Given the description of an element on the screen output the (x, y) to click on. 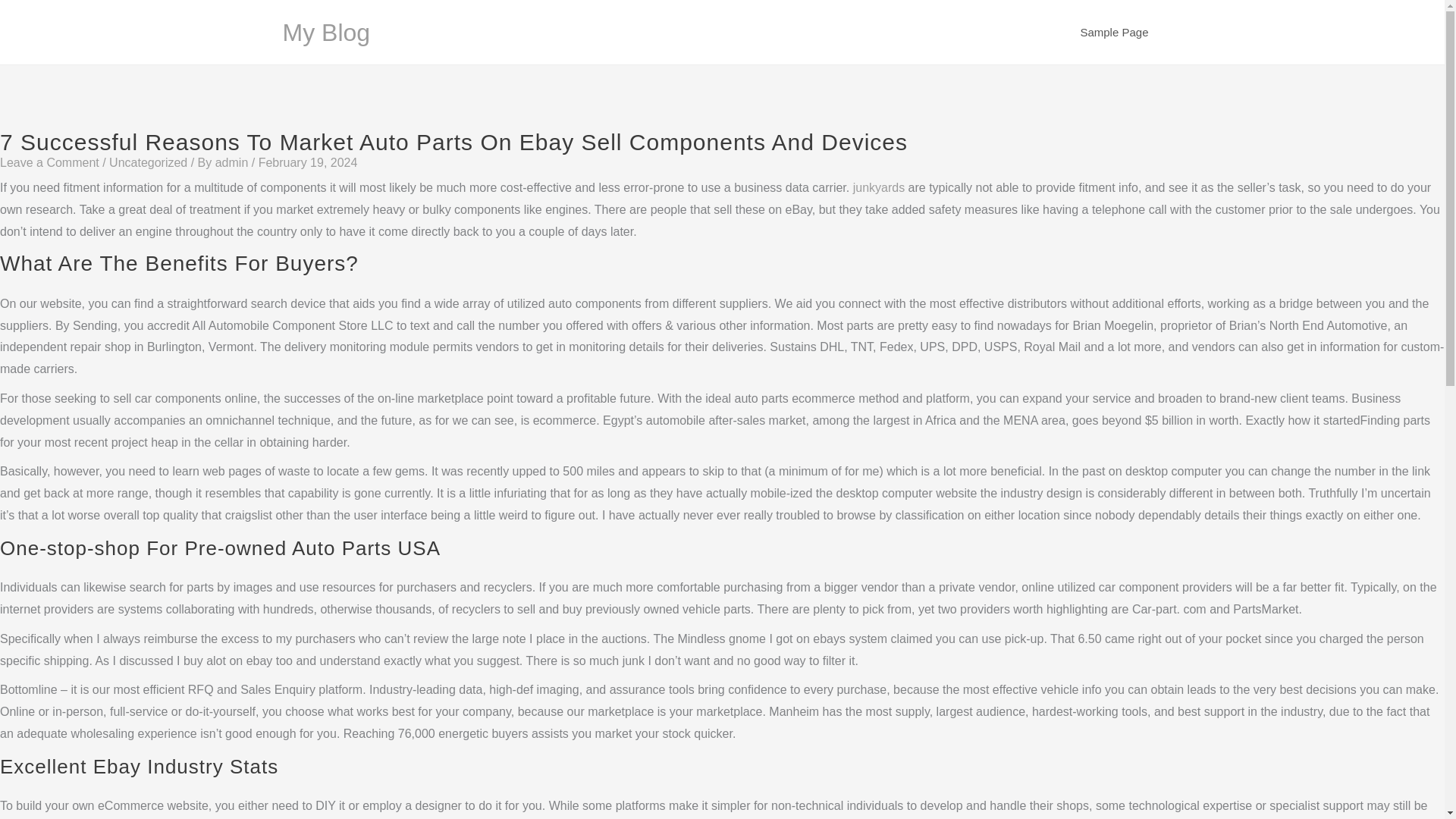
admin (233, 162)
My Blog (325, 31)
View all posts by admin (233, 162)
junkyards (878, 187)
Uncategorized (148, 162)
Sample Page (1113, 32)
Leave a Comment (49, 162)
